Given the description of an element on the screen output the (x, y) to click on. 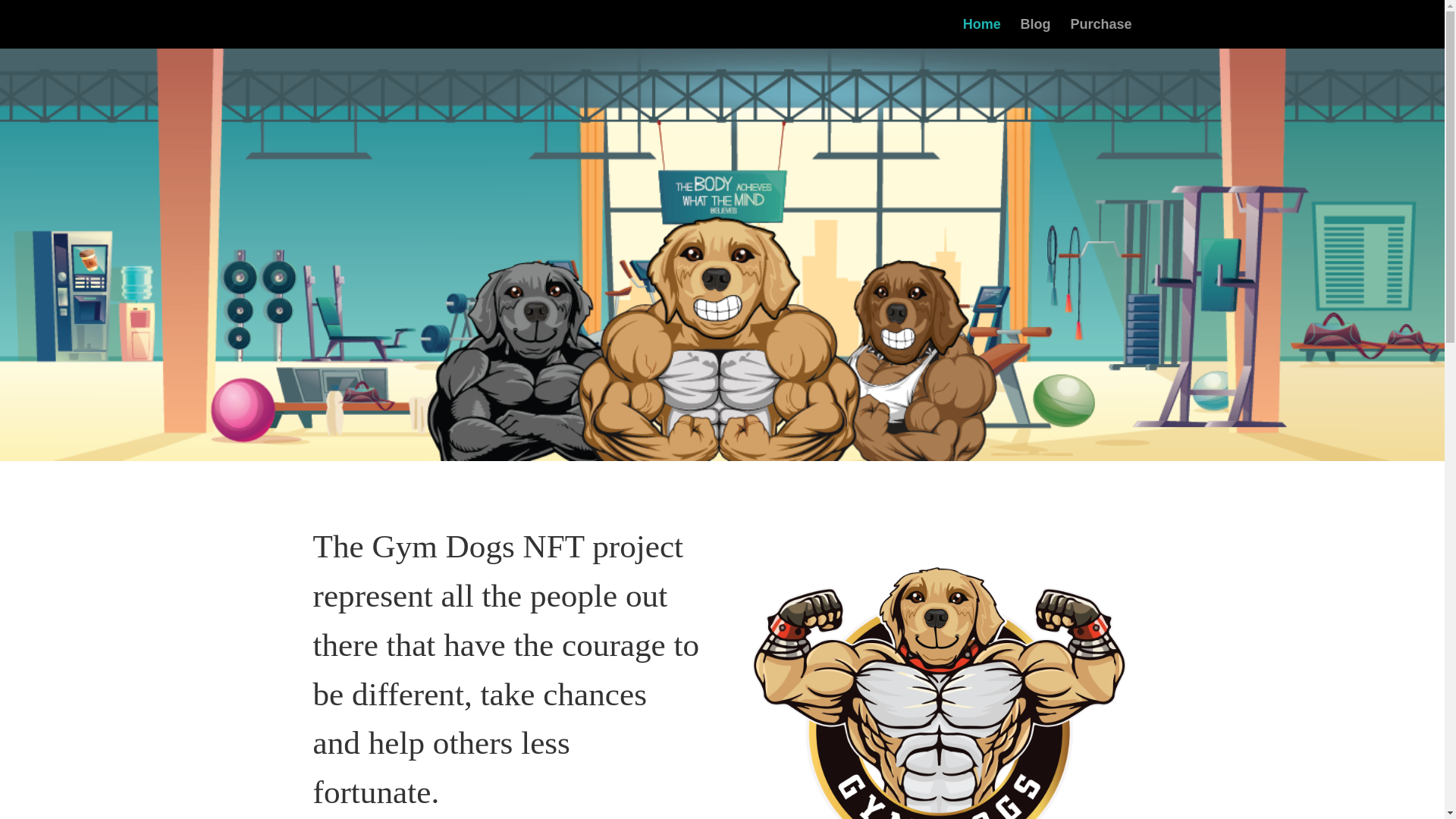
Home (981, 33)
Purchase (1100, 33)
Blog (1035, 33)
GYM DOGs Logo White BG (937, 670)
